Given the description of an element on the screen output the (x, y) to click on. 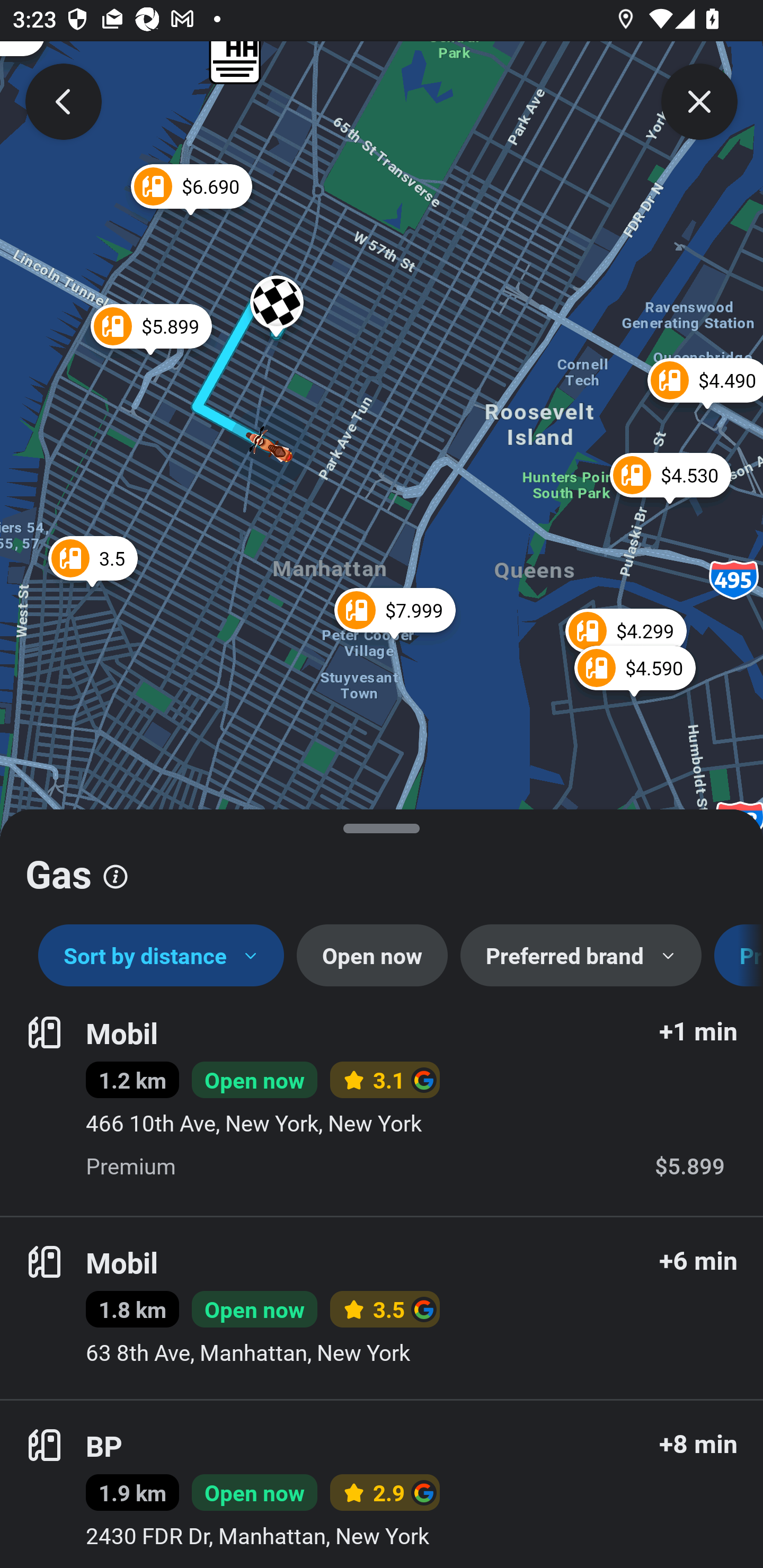
Gas (381, 867)
Sort by distance (160, 955)
Open now (371, 955)
Preferred brand (580, 955)
